Given the description of an element on the screen output the (x, y) to click on. 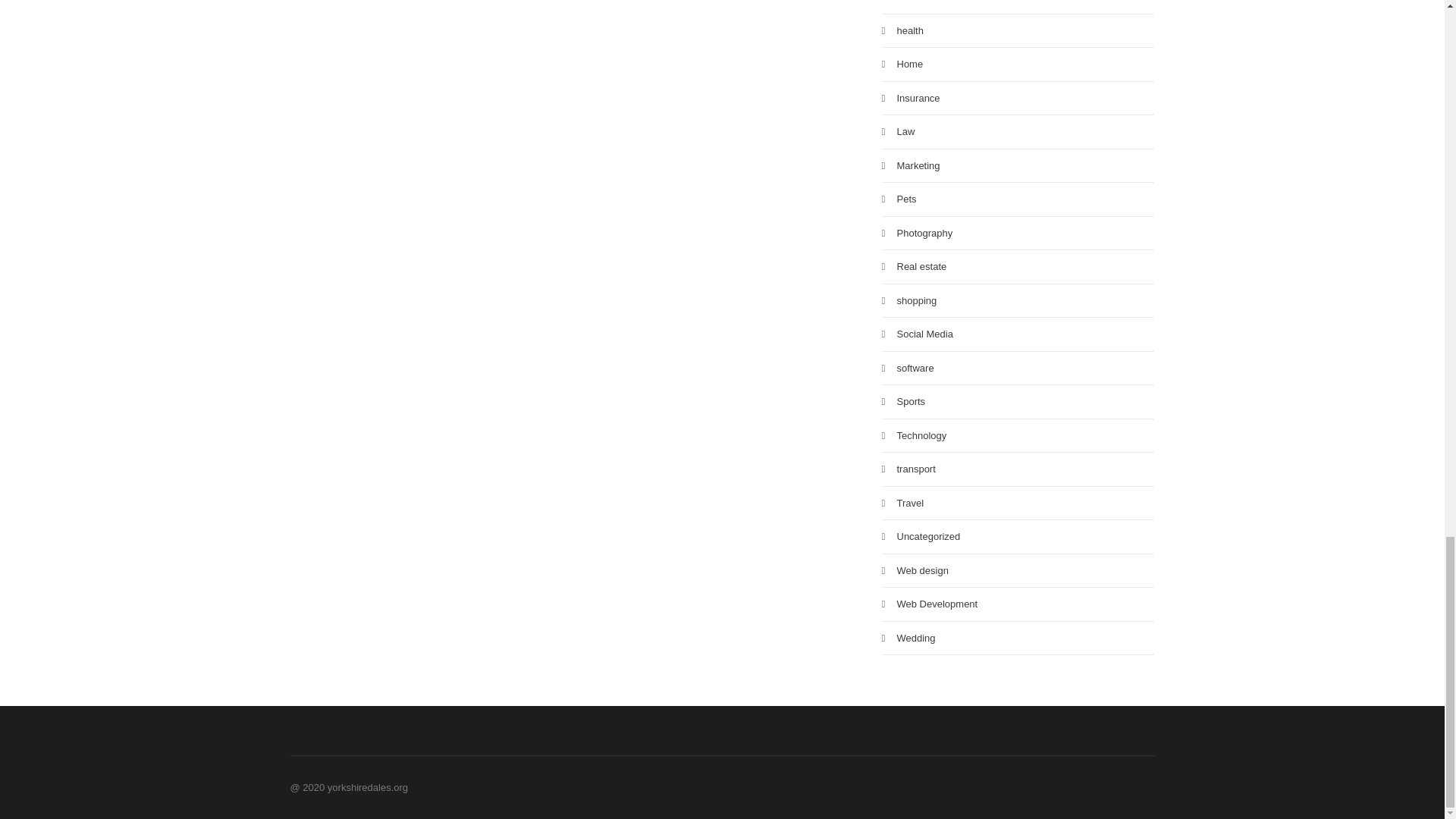
Baika Talman (524, 131)
Ways To Improve Your Flyer Distribution In Wollongong (574, 108)
Baika Talman (716, 131)
